Given the description of an element on the screen output the (x, y) to click on. 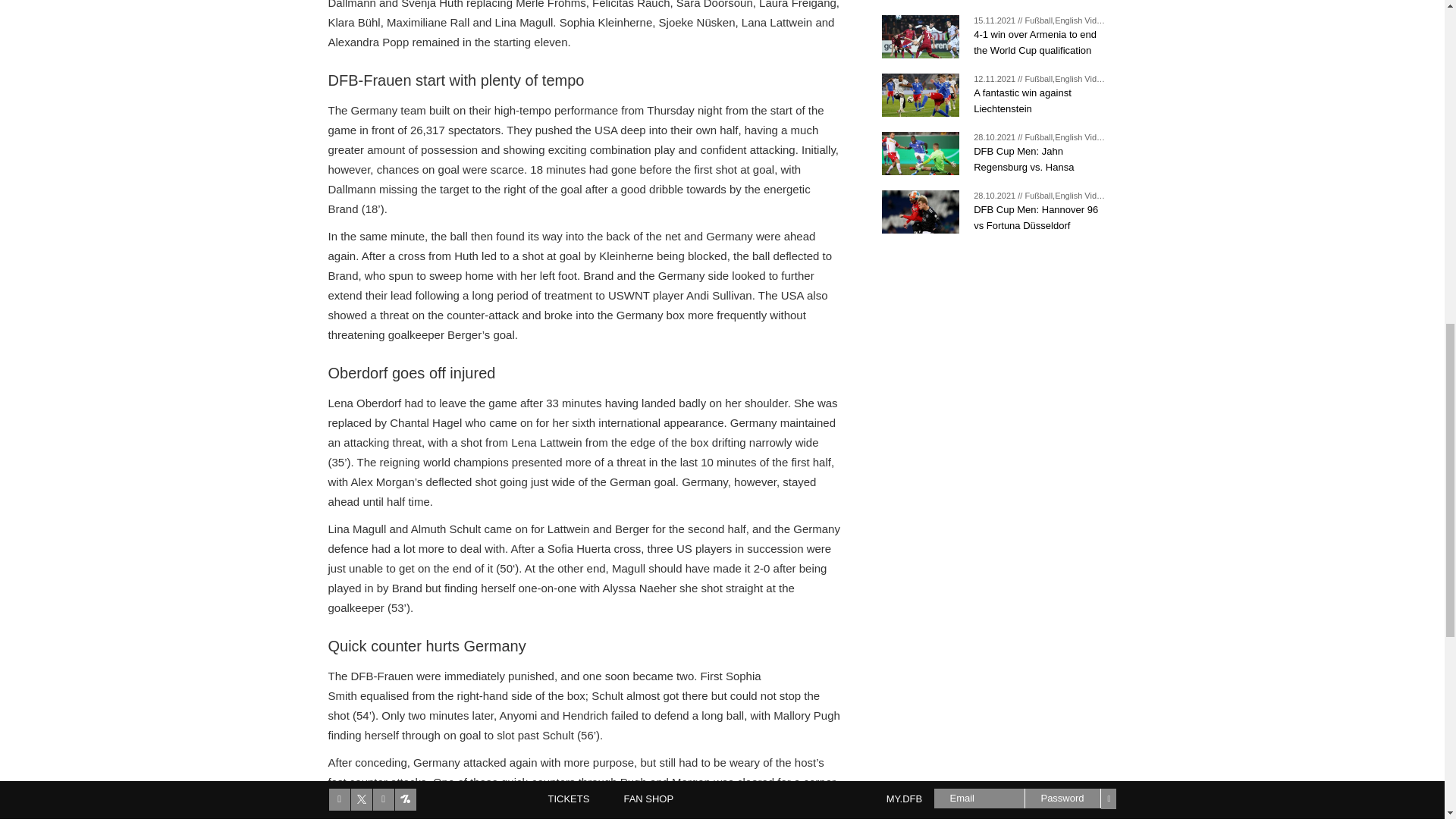
DFB Cup Men: Jahn Regensburg vs. Hansa Rostock (1041, 158)
A fantastic win against Liechtenstein (1041, 100)
